Given the description of an element on the screen output the (x, y) to click on. 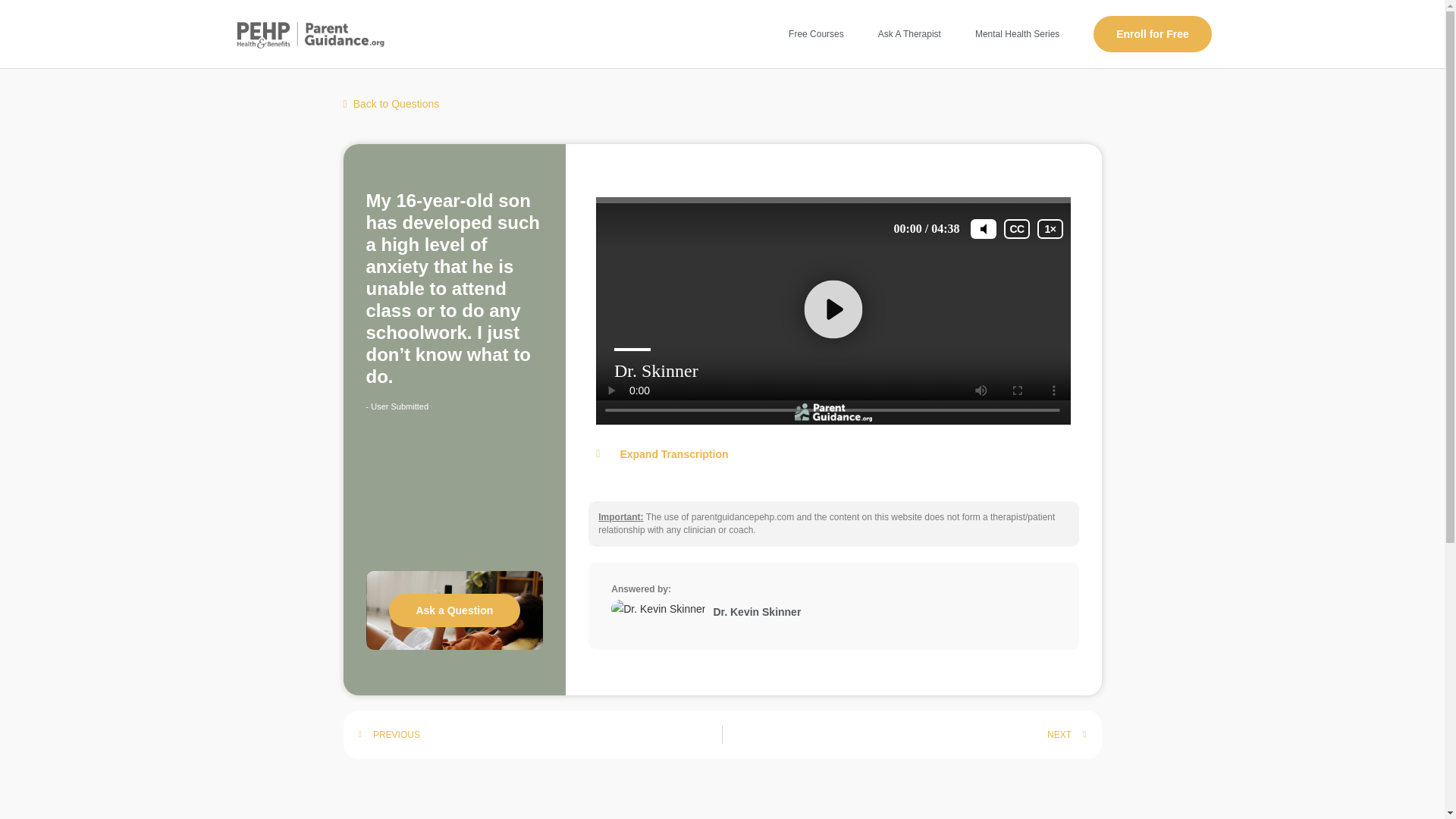
Expand Transcription (832, 453)
NEXT (904, 734)
Free Courses (815, 33)
Enroll for Free (1152, 33)
Mental Health Series (1016, 33)
PREVIOUS (540, 734)
Back to Questions (390, 103)
Ask A Therapist (909, 33)
Ask a Question (453, 610)
